Given the description of an element on the screen output the (x, y) to click on. 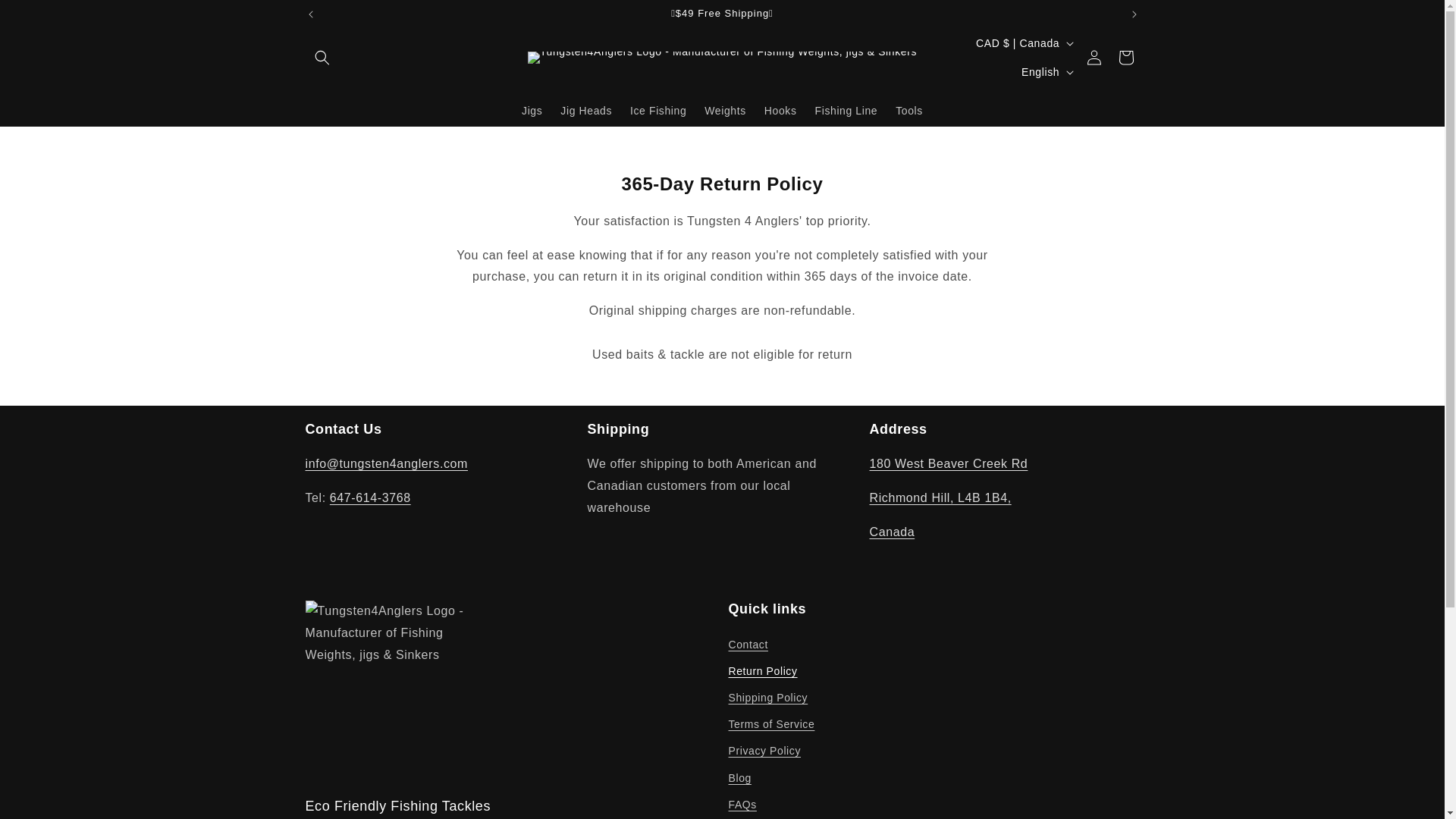
English (1045, 71)
Jig Heads (586, 110)
Ice Fishing (658, 110)
Hooks (780, 110)
Skip to content (45, 17)
Jigs (531, 110)
647-614-3768 (370, 497)
Tools (908, 110)
Fishing Line (846, 110)
Weights (725, 110)
